Given the description of an element on the screen output the (x, y) to click on. 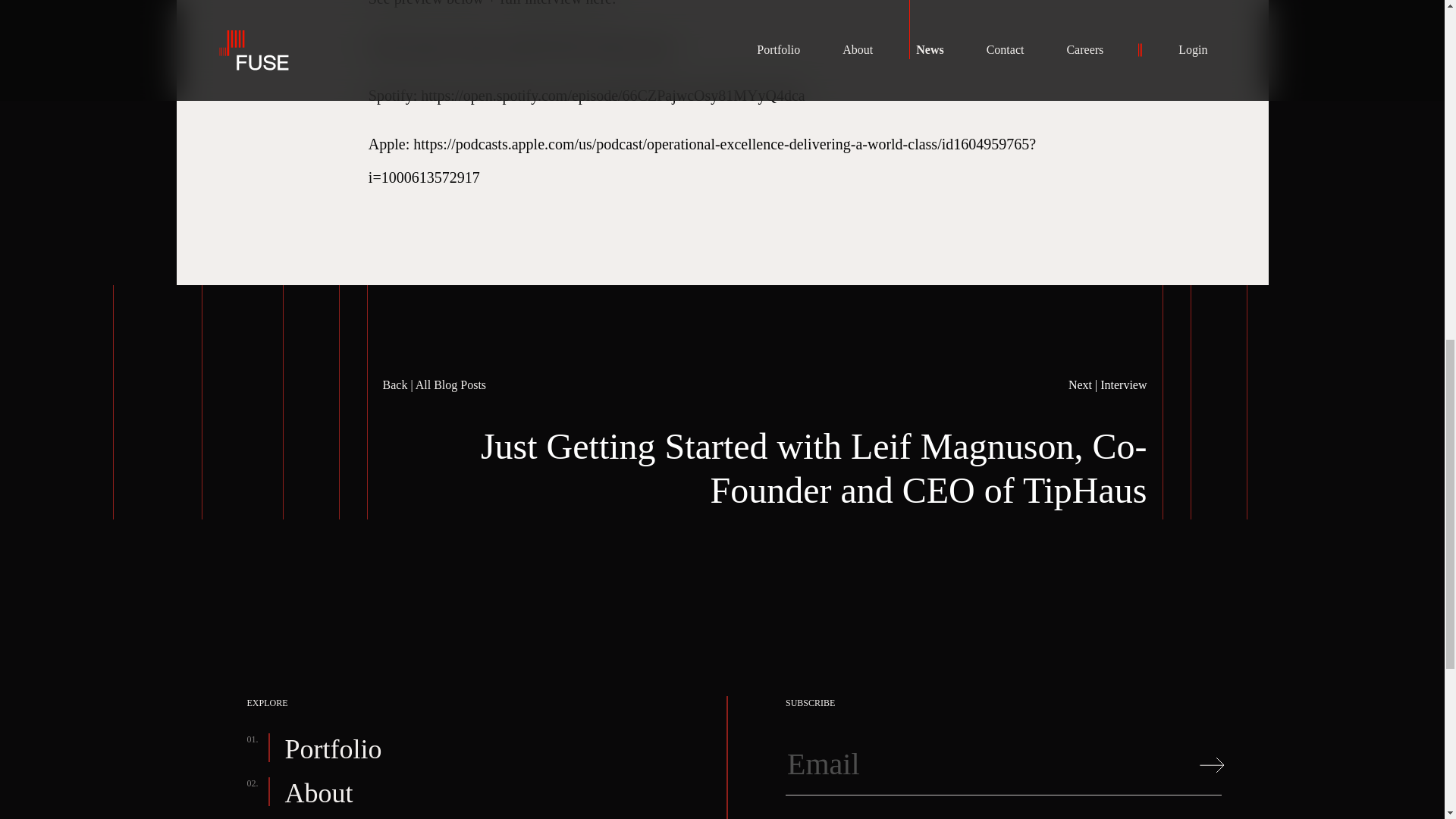
Portfolio (333, 749)
About (319, 793)
